Given the description of an element on the screen output the (x, y) to click on. 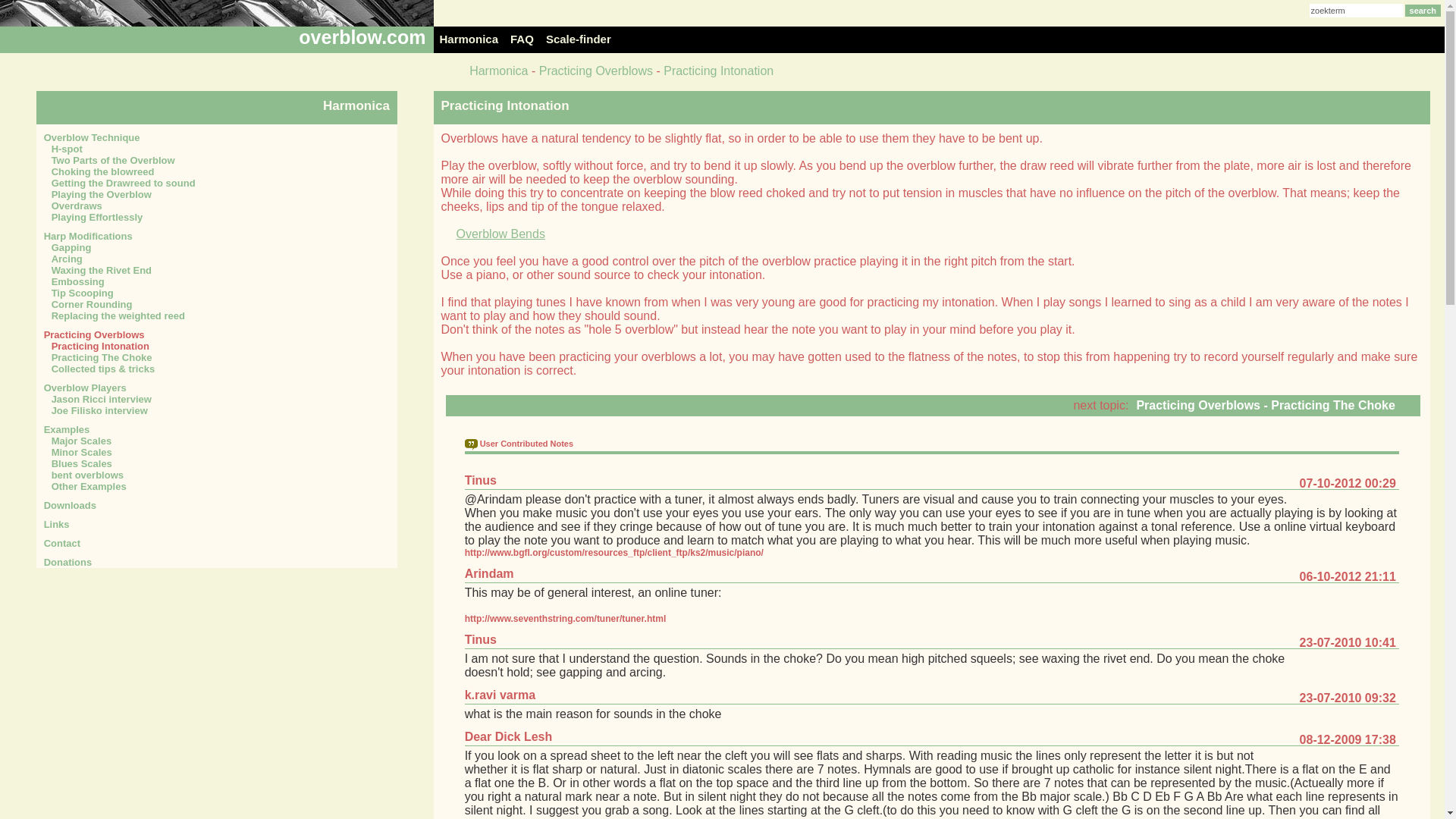
Tip Scooping (216, 292)
Replacing the weighted reed (216, 315)
Joe Filisko interview (216, 410)
Playing the Overblow (216, 194)
Arcing (216, 258)
Overblow Players (216, 387)
Harmonica (497, 70)
Practicing Intonation (216, 346)
search (1423, 10)
Downloads (216, 505)
Overblow Technique (216, 137)
Corner Rounding (216, 304)
Waxing the Rivet End (216, 270)
Contact (216, 542)
Choking the blowreed (216, 171)
